Given the description of an element on the screen output the (x, y) to click on. 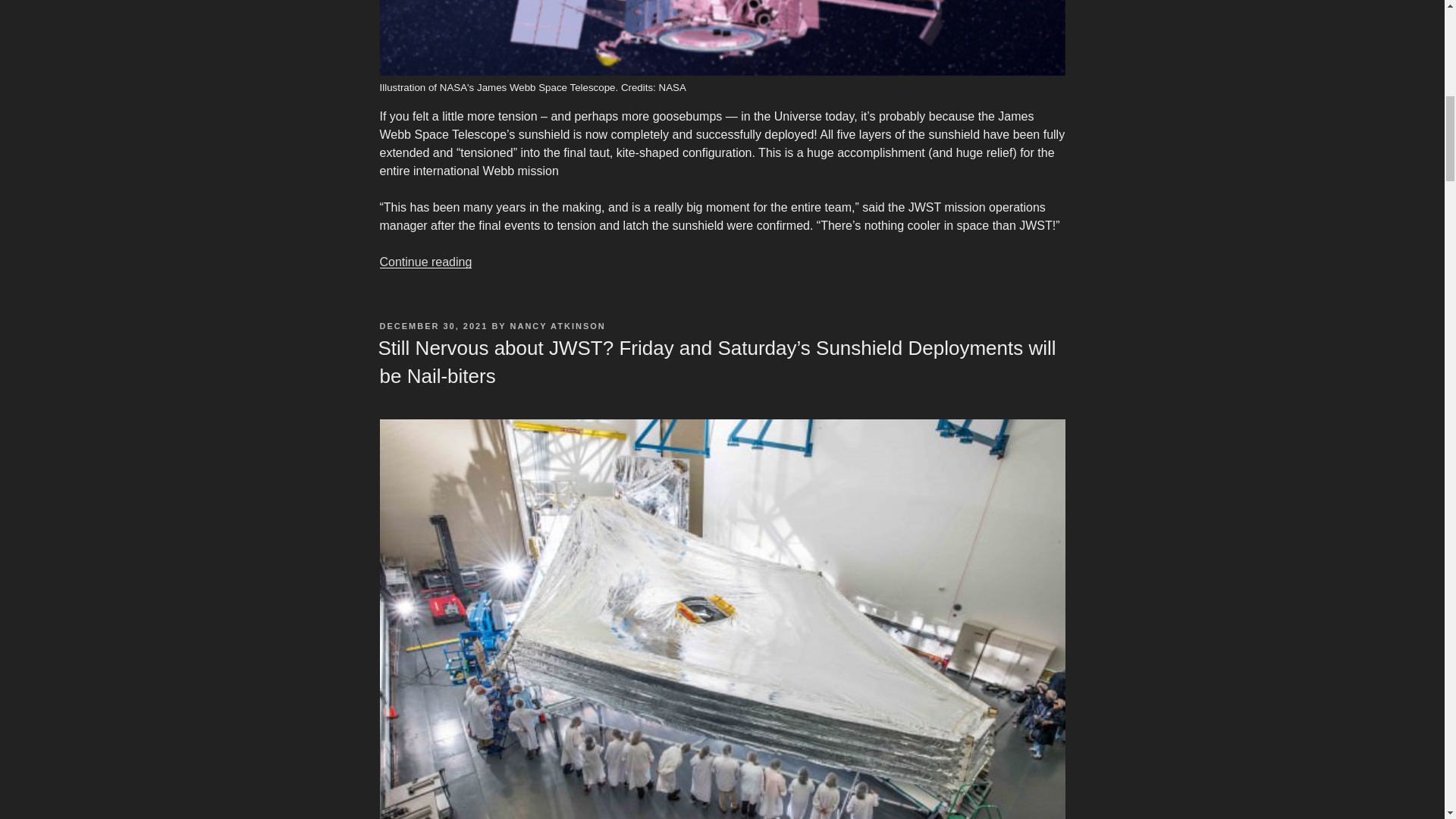
NANCY ATKINSON (558, 325)
DECEMBER 30, 2021 (432, 325)
